Given the description of an element on the screen output the (x, y) to click on. 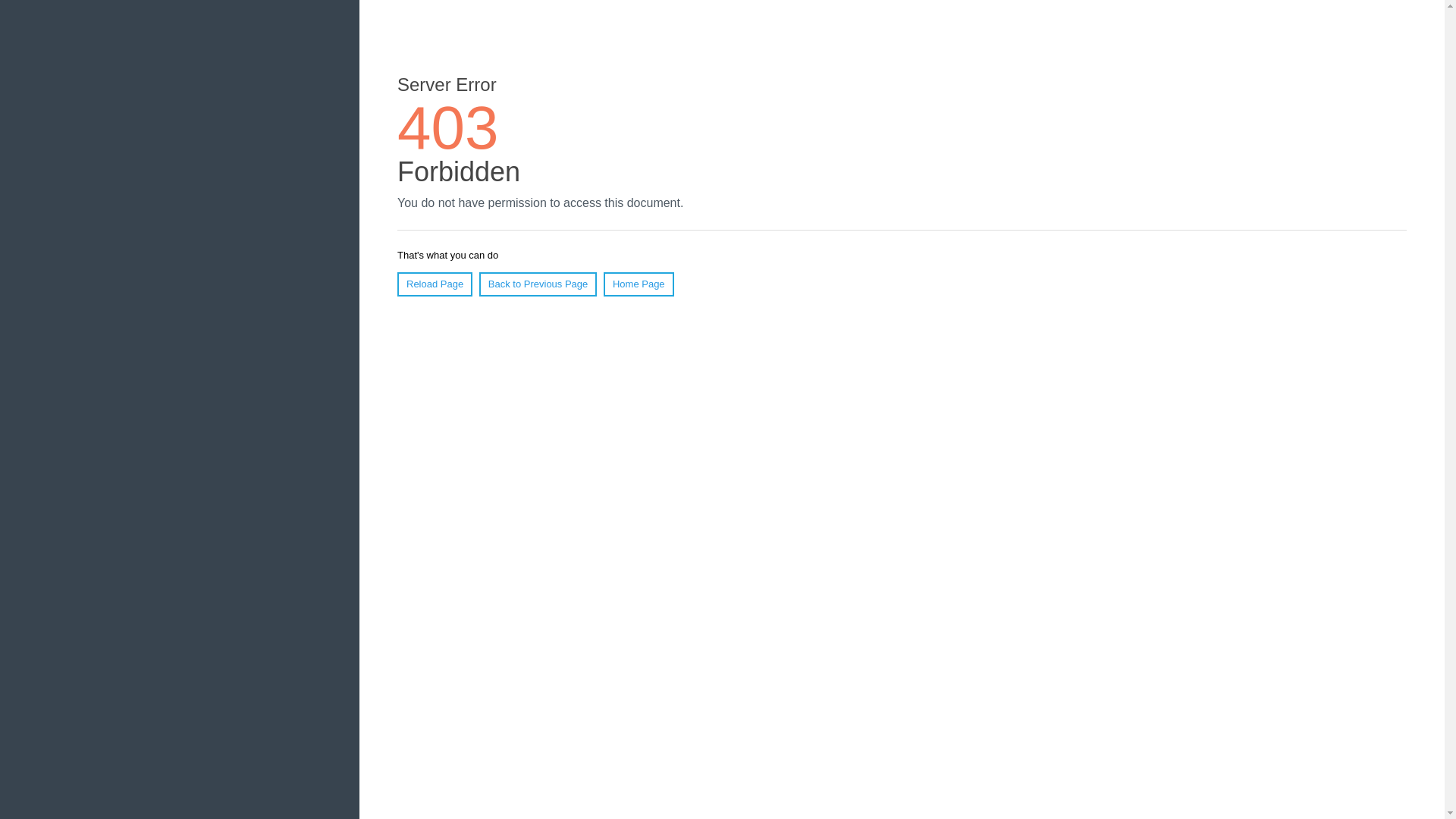
Back to Previous Page Element type: text (538, 284)
Home Page Element type: text (638, 284)
Reload Page Element type: text (434, 284)
